Given the description of an element on the screen output the (x, y) to click on. 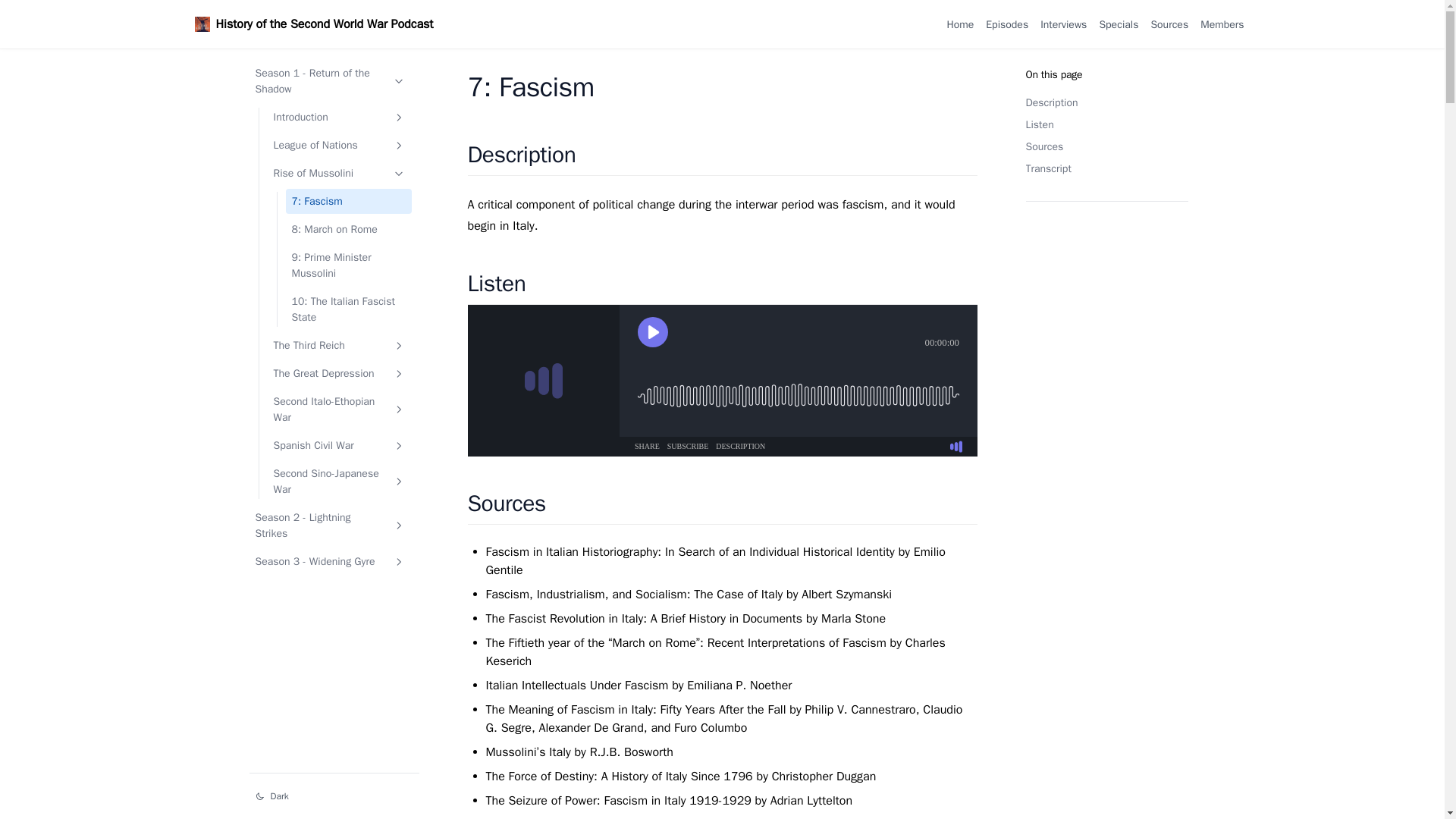
Change theme (333, 795)
Home (959, 24)
History of the Second World War Podcast (323, 24)
Specials (1118, 24)
Description (1106, 102)
Sources (1168, 24)
Transcript (1106, 168)
Interviews (1063, 24)
Sources (1168, 24)
Listen (1106, 124)
